Given the description of an element on the screen output the (x, y) to click on. 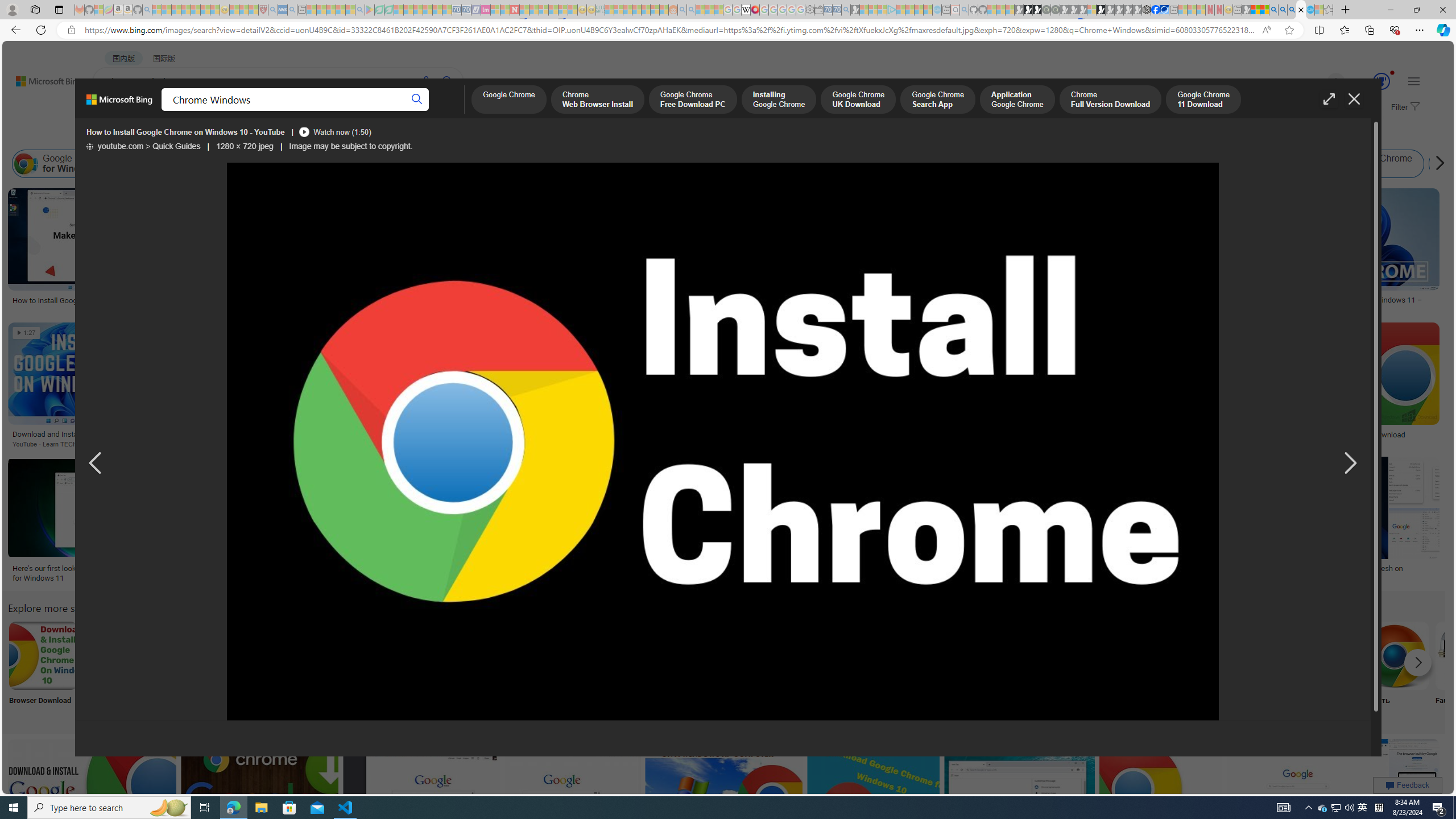
New Logo (1018, 669)
Browser Logo (718, 669)
Chrome Download for Windows 8 (1123, 163)
Back to Bing search (41, 78)
ACADEMIC (360, 111)
Bluey: Let's Play! - Apps on Google Play - Sleeping (369, 9)
Color (173, 135)
Bing Real Estate - Home sales and rental listings - Sleeping (846, 9)
Workspaces (34, 9)
